Given the description of an element on the screen output the (x, y) to click on. 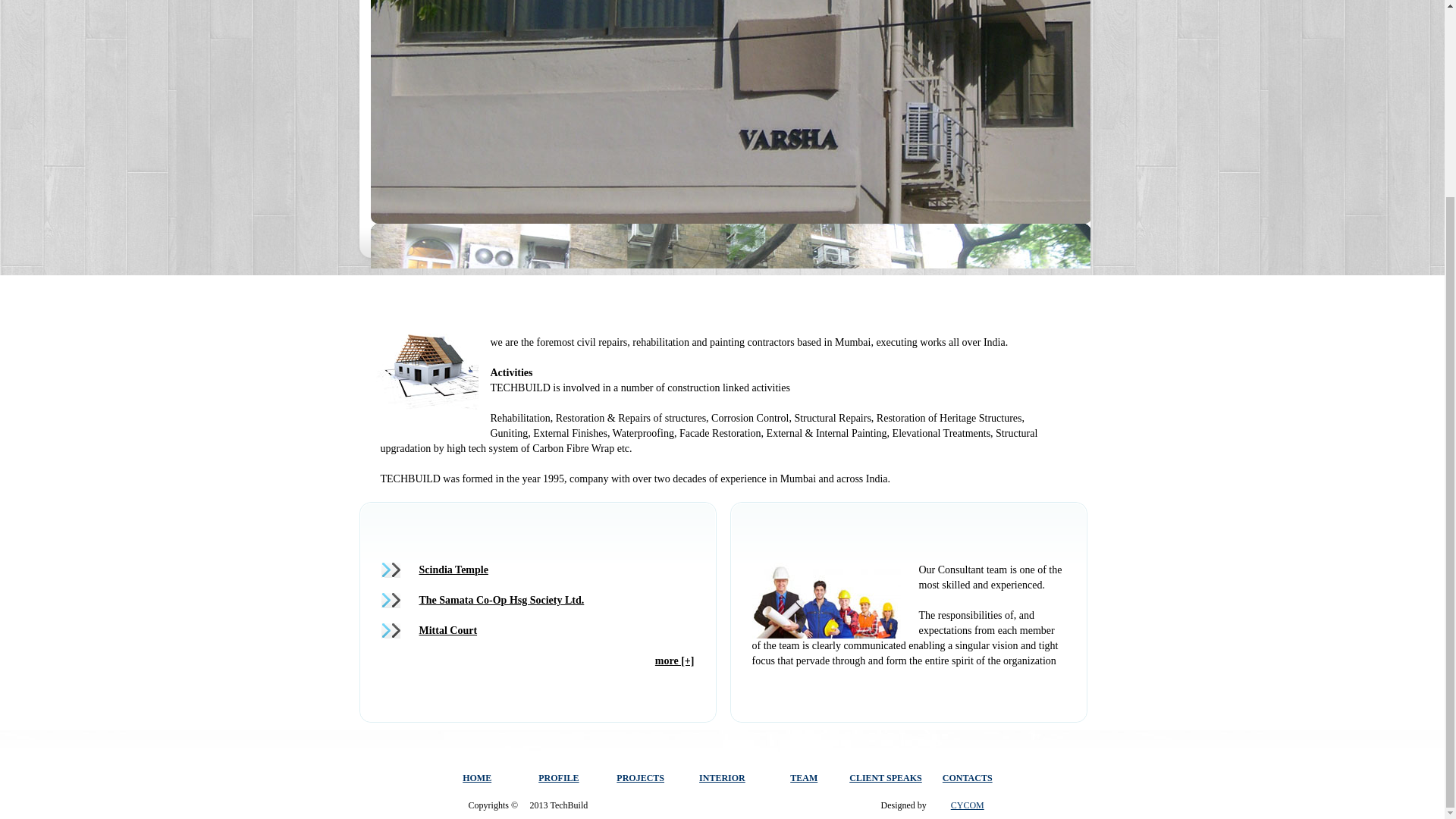
HOME (477, 777)
Mittal Court (448, 630)
TEAM (803, 777)
Scindia Temple (453, 569)
CYCOM (967, 805)
The Samata Co-Op Hsg Society Ltd. (501, 600)
PROJECTS (639, 777)
PROFILE (558, 777)
